Given the description of an element on the screen output the (x, y) to click on. 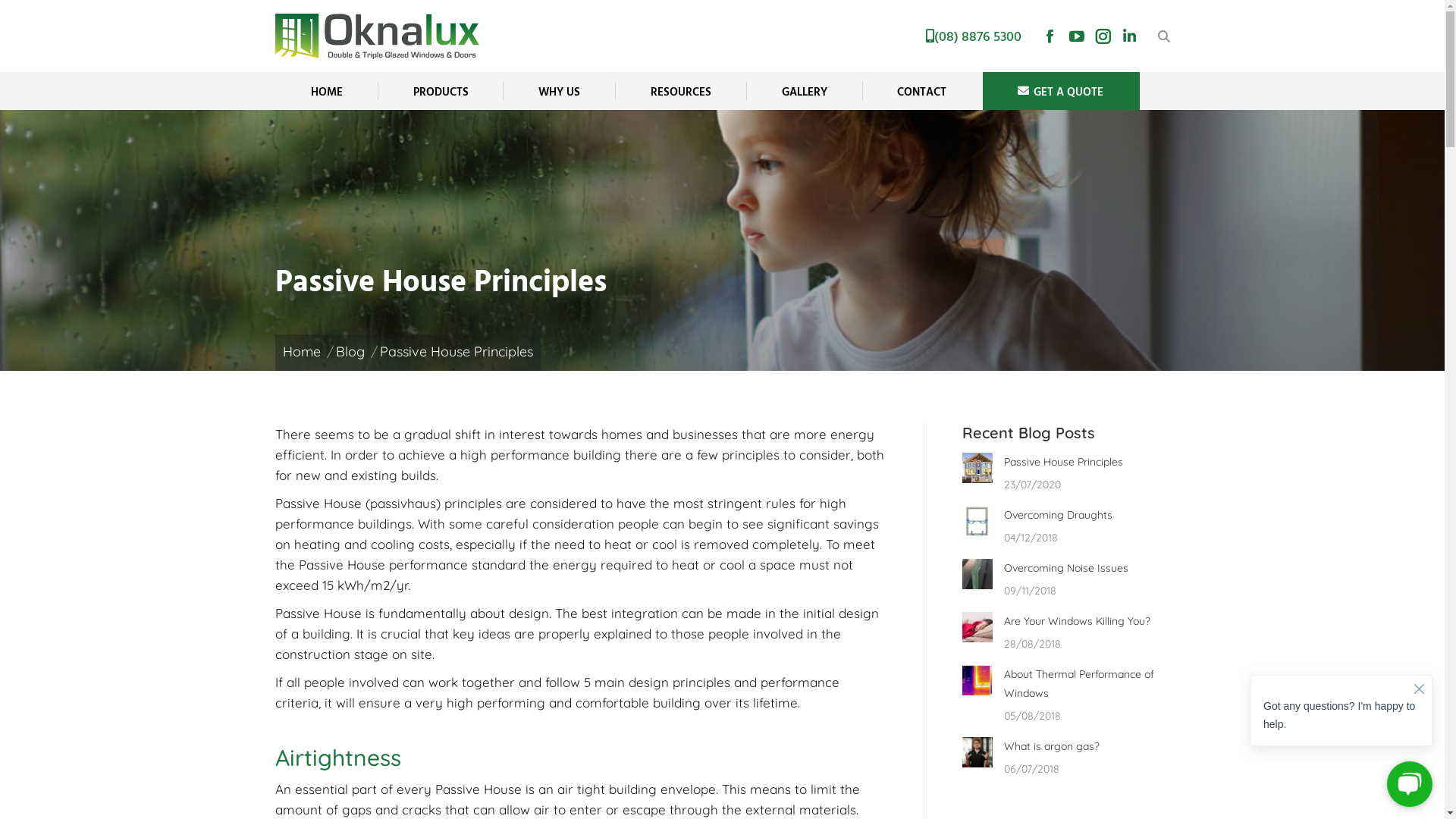
Instagram page opens in new window Element type: text (1101, 35)
WHY US Element type: text (559, 90)
Facebook page opens in new window Element type: text (1048, 35)
Go! Element type: text (45, 19)
Passive House Principles Element type: text (1063, 461)
Overcoming Noise Issues Element type: text (1066, 567)
PRODUCTS Element type: text (440, 90)
About Thermal Performance of Windows Element type: text (1087, 683)
Overcoming Draughts Element type: text (1058, 514)
RESOURCES Element type: text (681, 90)
Linkedin page opens in new window Element type: text (1129, 35)
YouTube page opens in new window Element type: text (1076, 35)
Blog Element type: text (349, 351)
CONTACT Element type: text (921, 90)
HOME Element type: text (326, 90)
GET A QUOTE Element type: text (1060, 90)
Home Element type: text (301, 351)
GALLERY Element type: text (803, 90)
(08) 8876 5300 Element type: text (972, 35)
What is argon gas? Element type: text (1051, 746)
Are Your Windows Killing You? Element type: text (1077, 620)
